Given the description of an element on the screen output the (x, y) to click on. 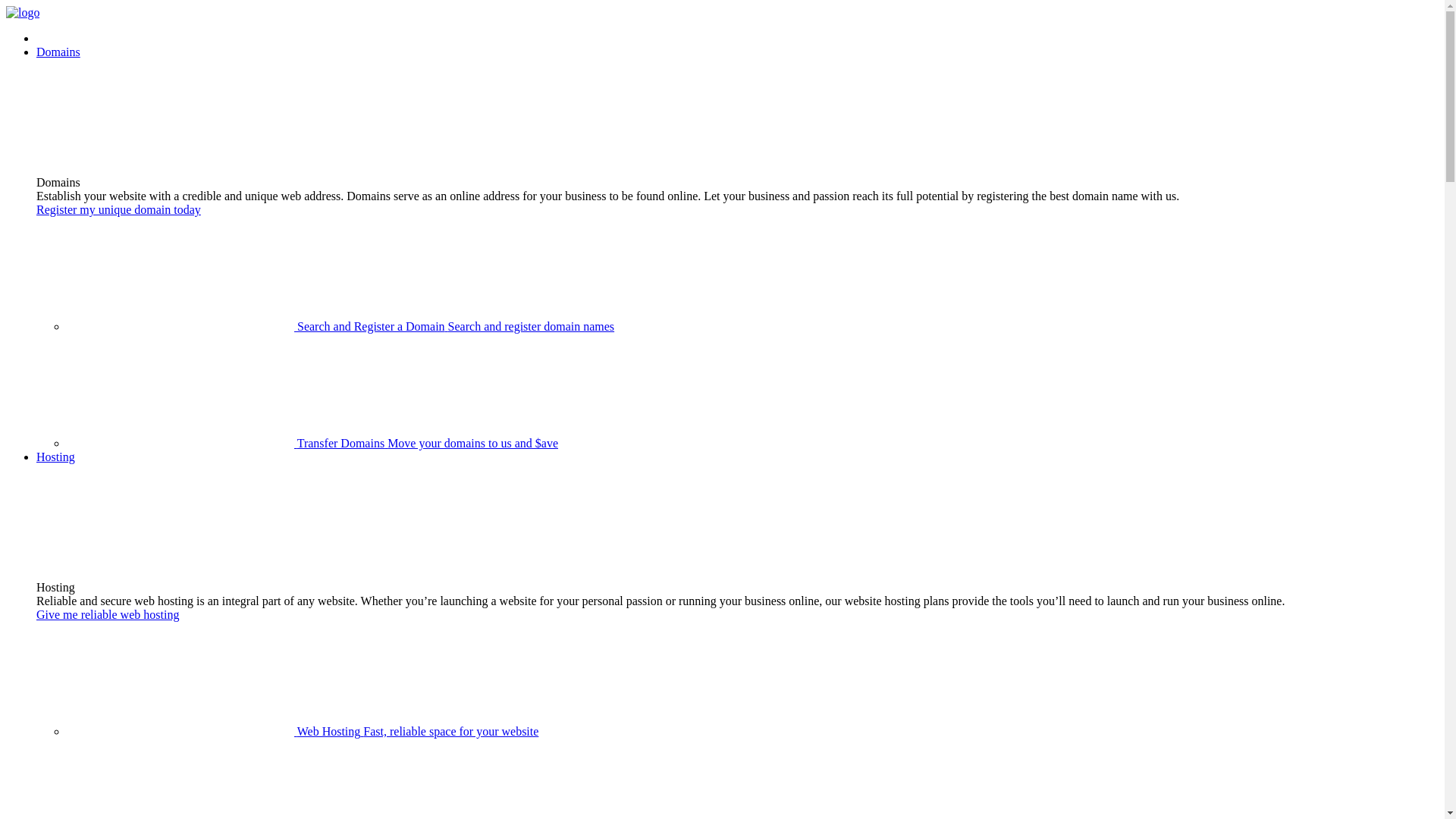
Register my unique domain today Element type: text (118, 209)
Give me reliable web hosting Element type: text (107, 614)
Domains Element type: text (58, 51)
Web Hosting Fast, reliable space for your website Element type: text (302, 730)
Transfer Domains Move your domains to us and $ave Element type: text (312, 442)
Hosting Element type: text (55, 456)
